Given the description of an element on the screen output the (x, y) to click on. 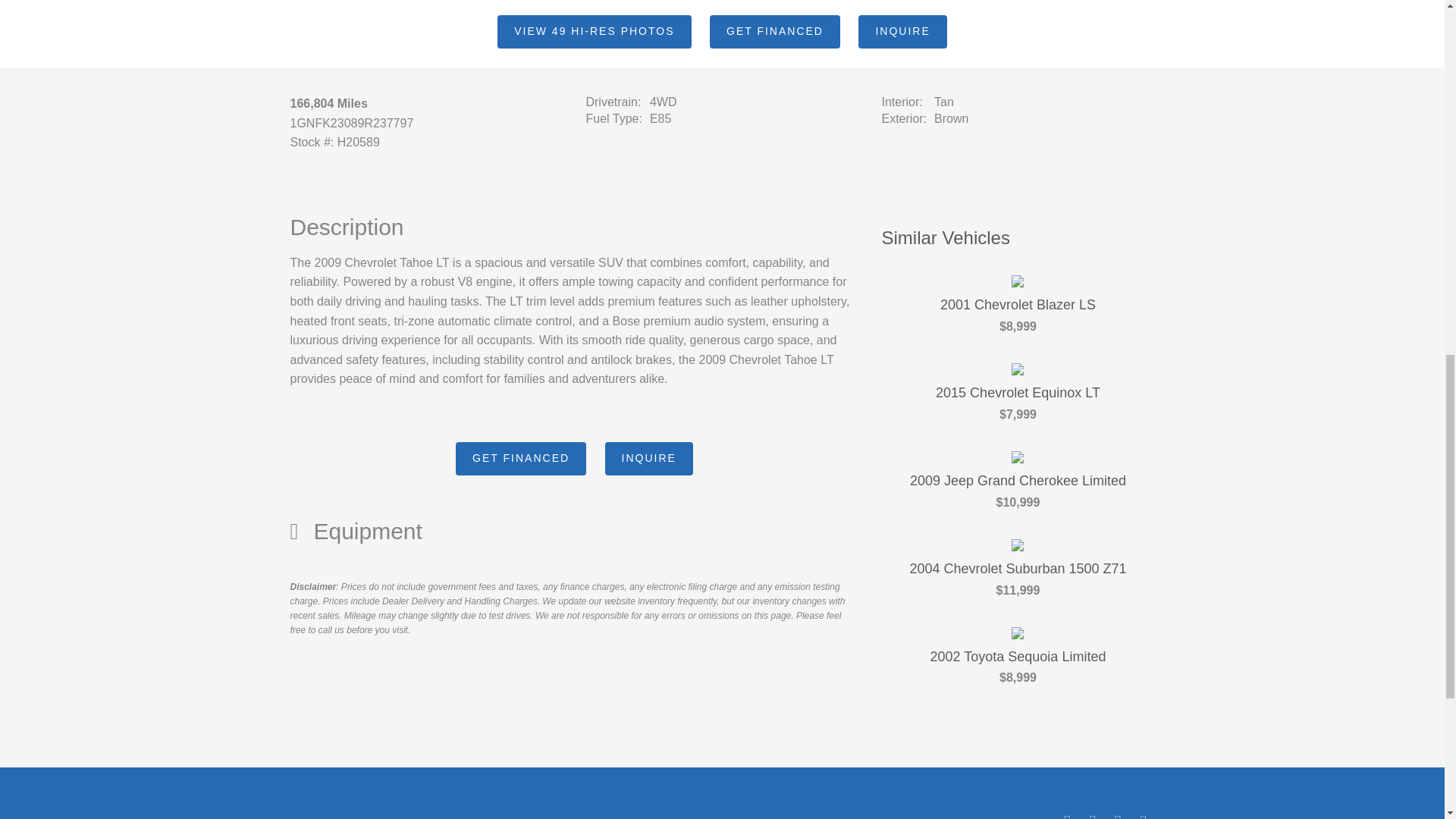
INQUIRE (902, 31)
VIEW 49 HI-RES PHOTOS (593, 31)
GET FINANCED (520, 458)
GET FINANCED (775, 31)
INQUIRE (649, 458)
